Given the description of an element on the screen output the (x, y) to click on. 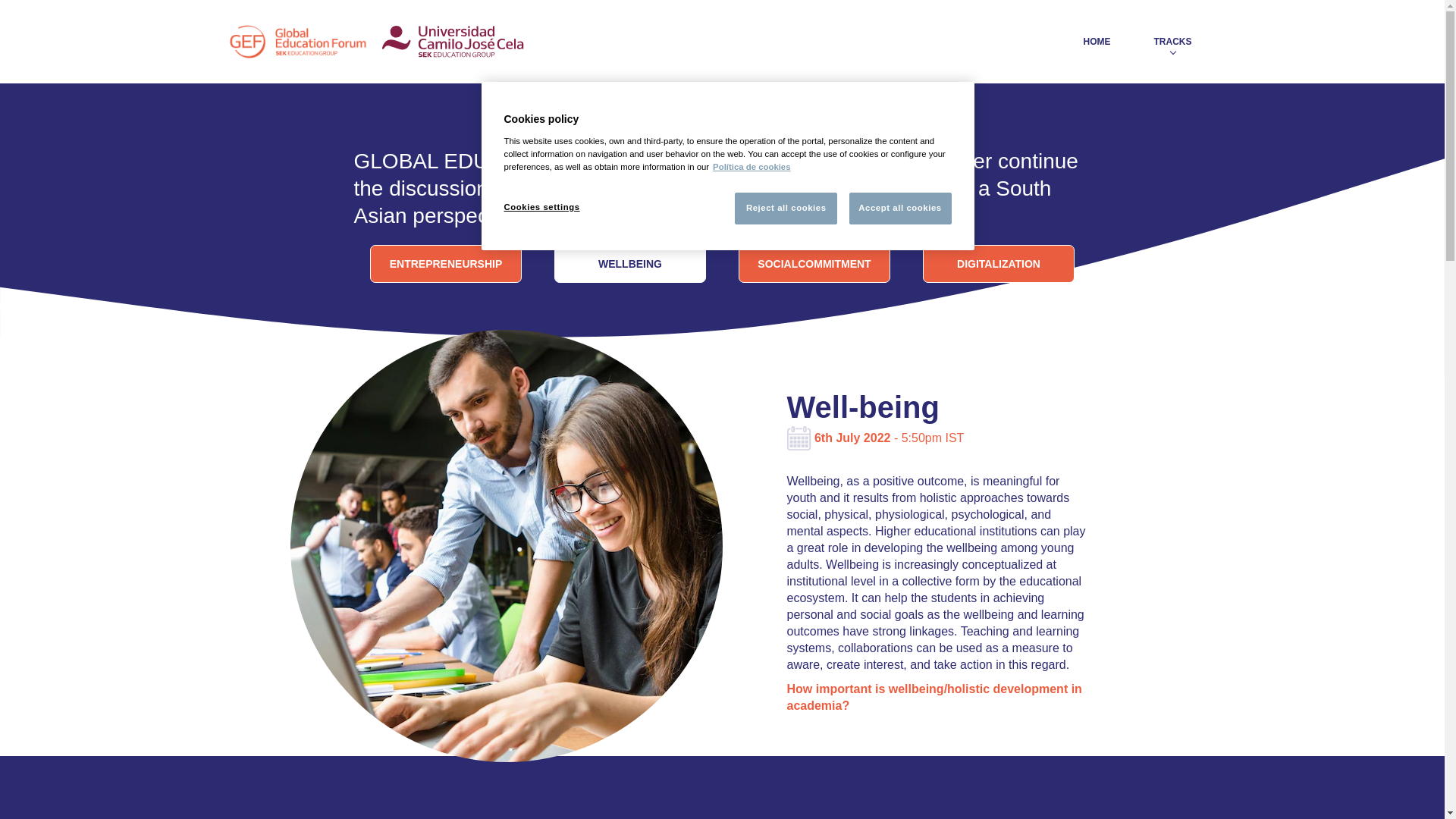
ENTREPRENEURSHIP (445, 263)
TRACKS (1171, 41)
WELLBEING (630, 263)
SOCIALCOMMITMENT (813, 263)
DIGITALIZATION (998, 263)
HOME (1095, 41)
